Given the description of an element on the screen output the (x, y) to click on. 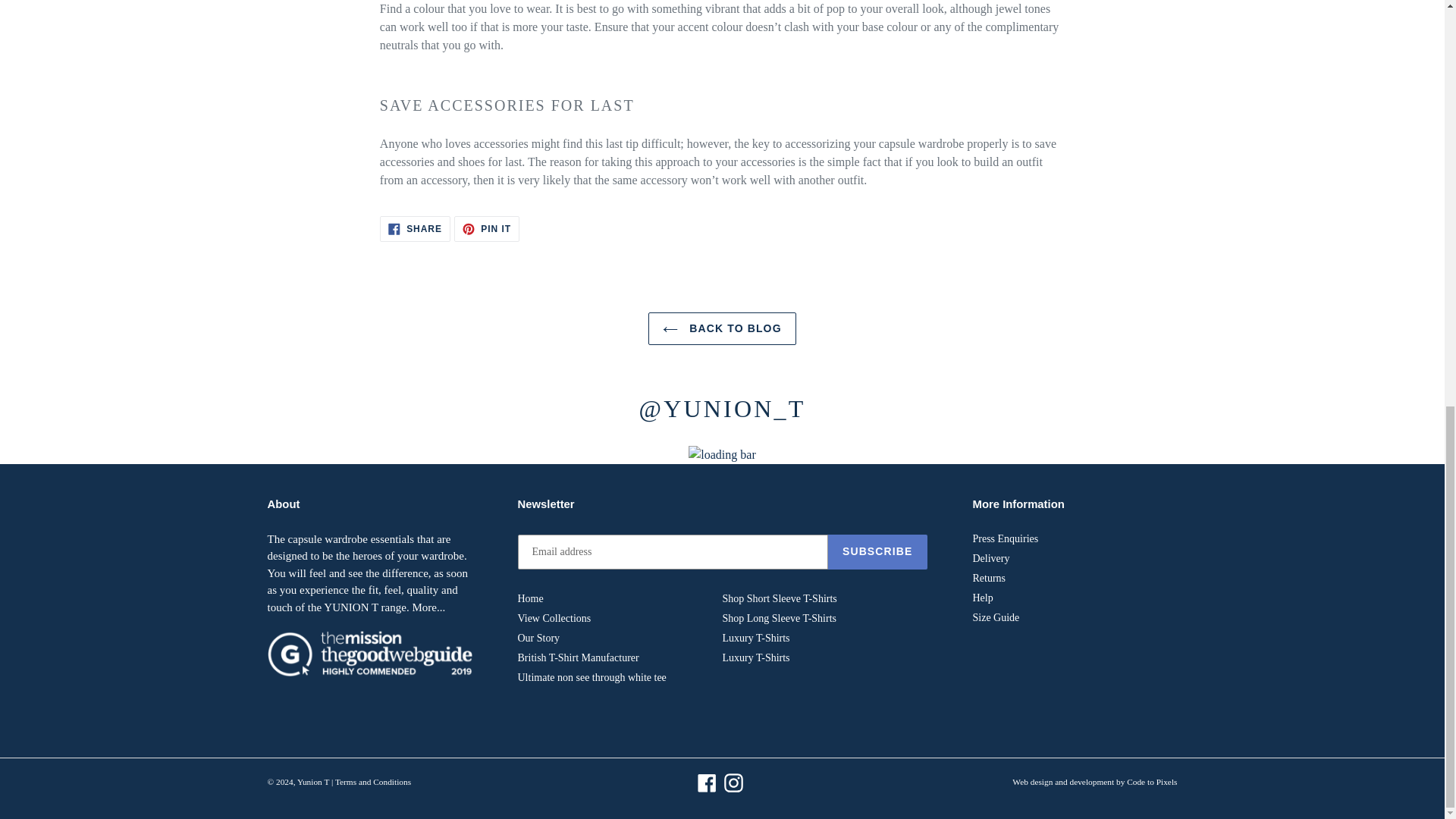
About (428, 607)
